Given the description of an element on the screen output the (x, y) to click on. 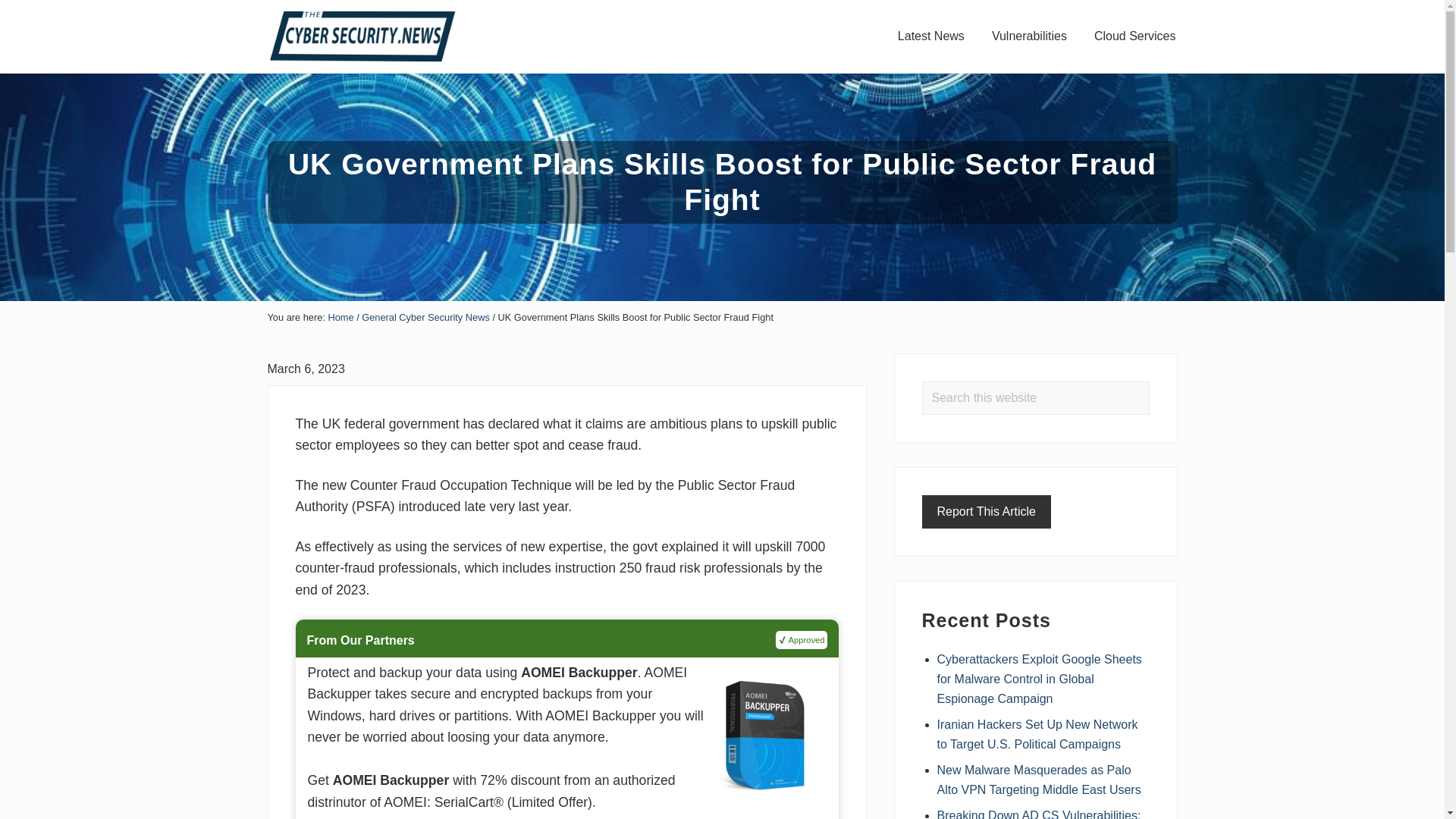
Home (340, 317)
General Cyber Security News (425, 317)
Cloud Services (1134, 35)
Latest News (930, 35)
Report This Article (986, 511)
